Given the description of an element on the screen output the (x, y) to click on. 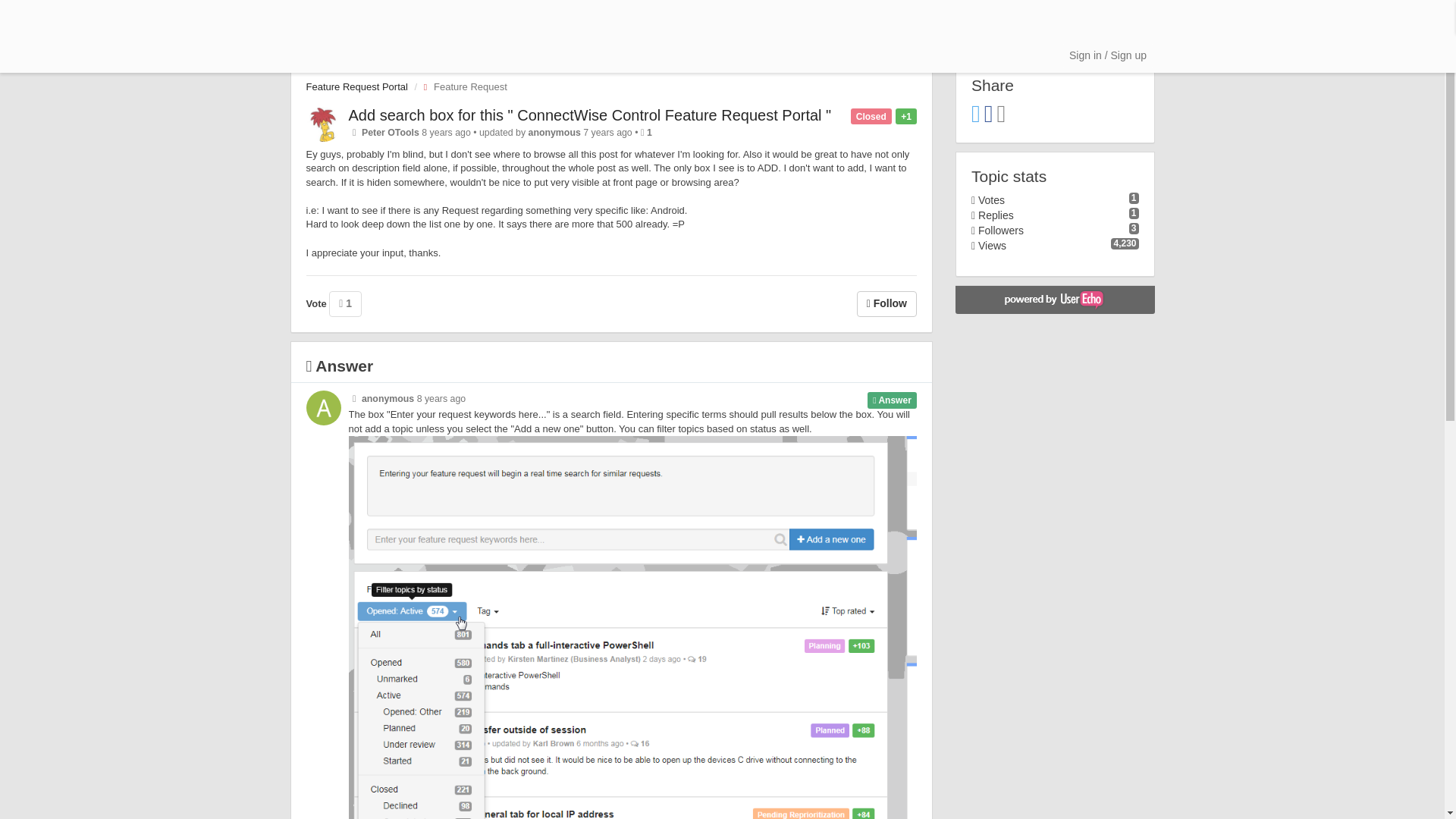
Feature Request Portal (356, 86)
anonymous (554, 132)
8 years ago (440, 398)
Feature Request (461, 86)
Follow (887, 303)
Peter OTools (390, 132)
anonymous (387, 398)
1 (345, 303)
1 (649, 132)
